Given the description of an element on the screen output the (x, y) to click on. 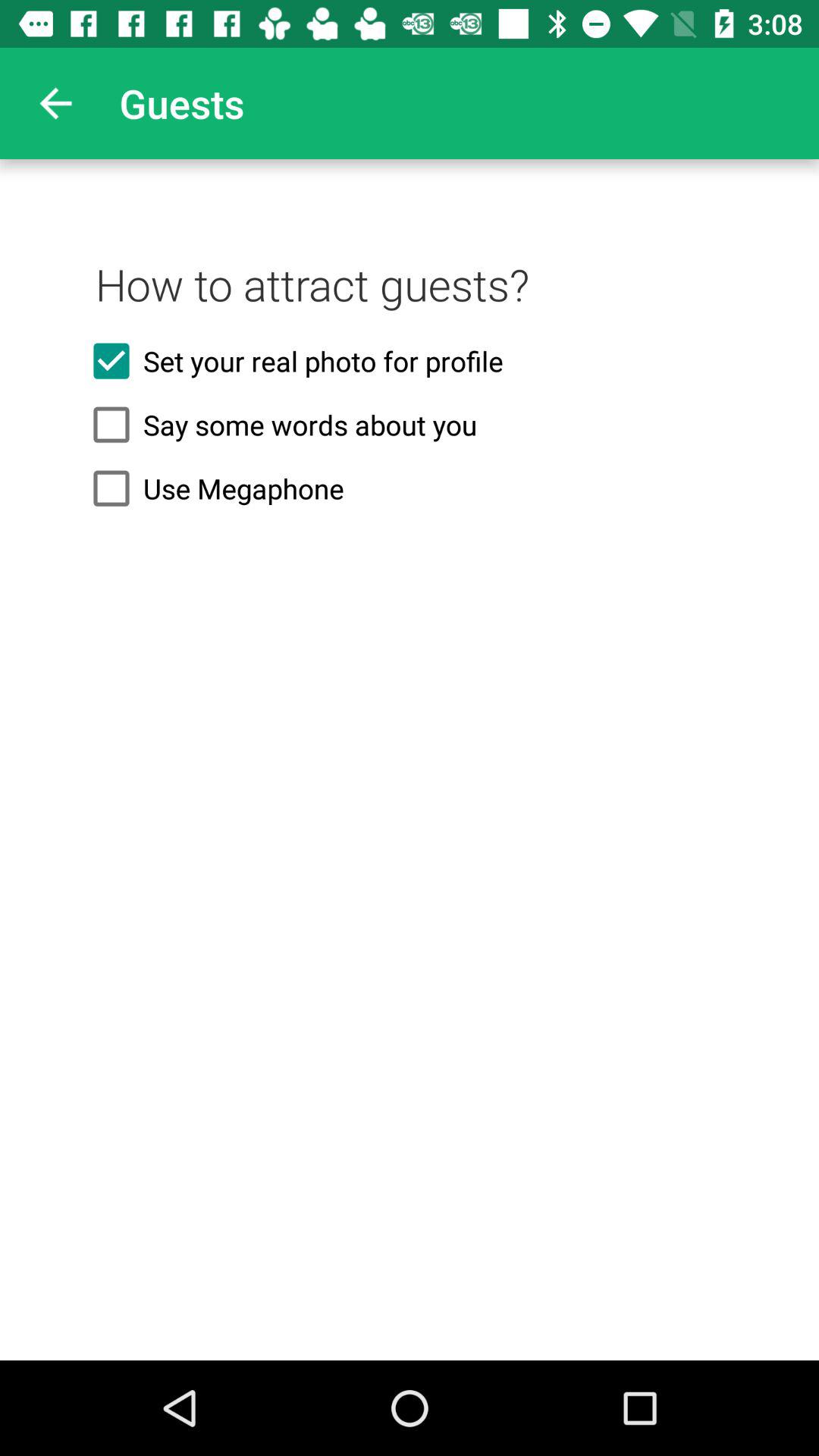
press the app to the left of the guests icon (55, 103)
